Given the description of an element on the screen output the (x, y) to click on. 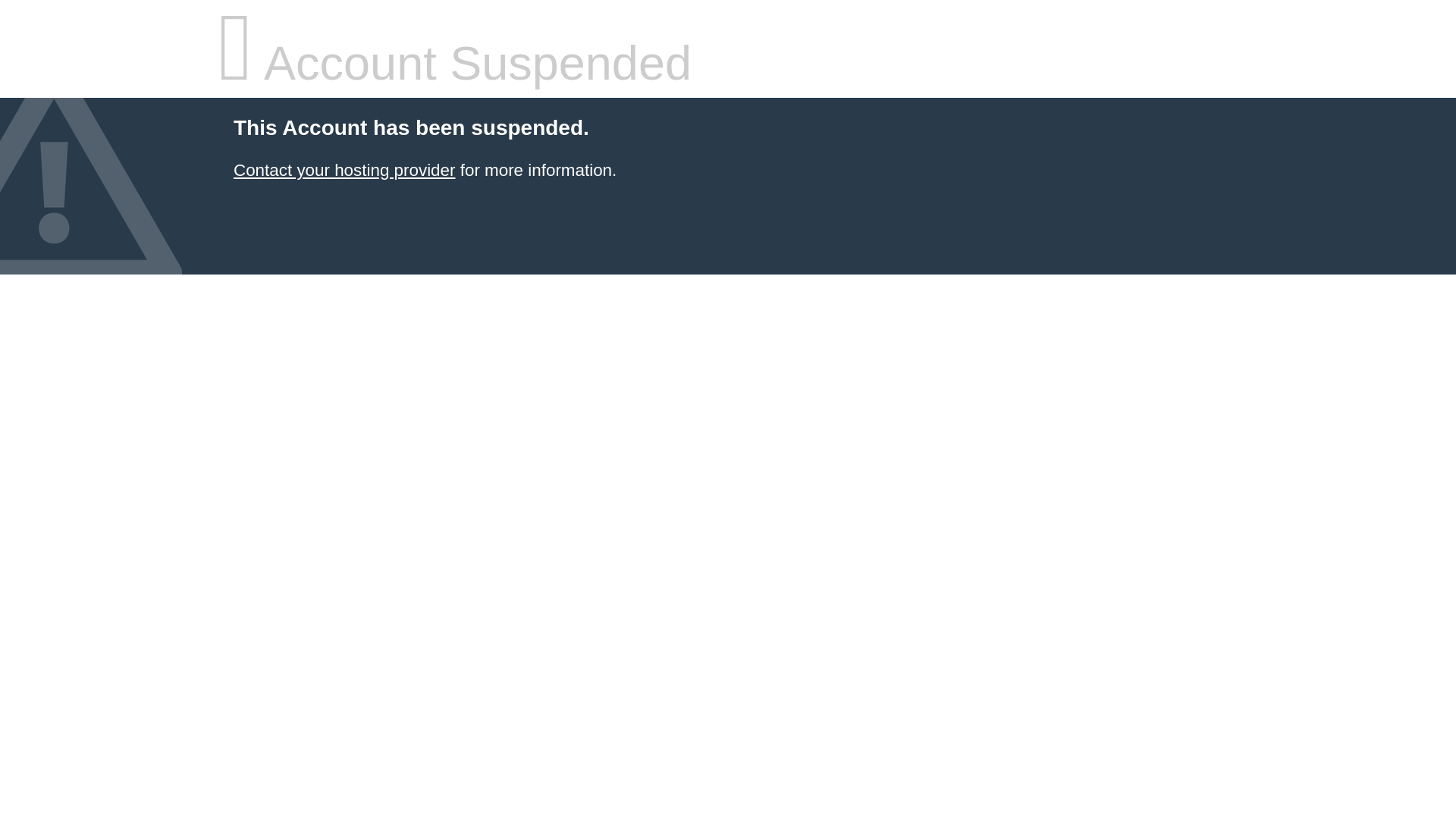
Contact your hosting provider (343, 169)
